Given the description of an element on the screen output the (x, y) to click on. 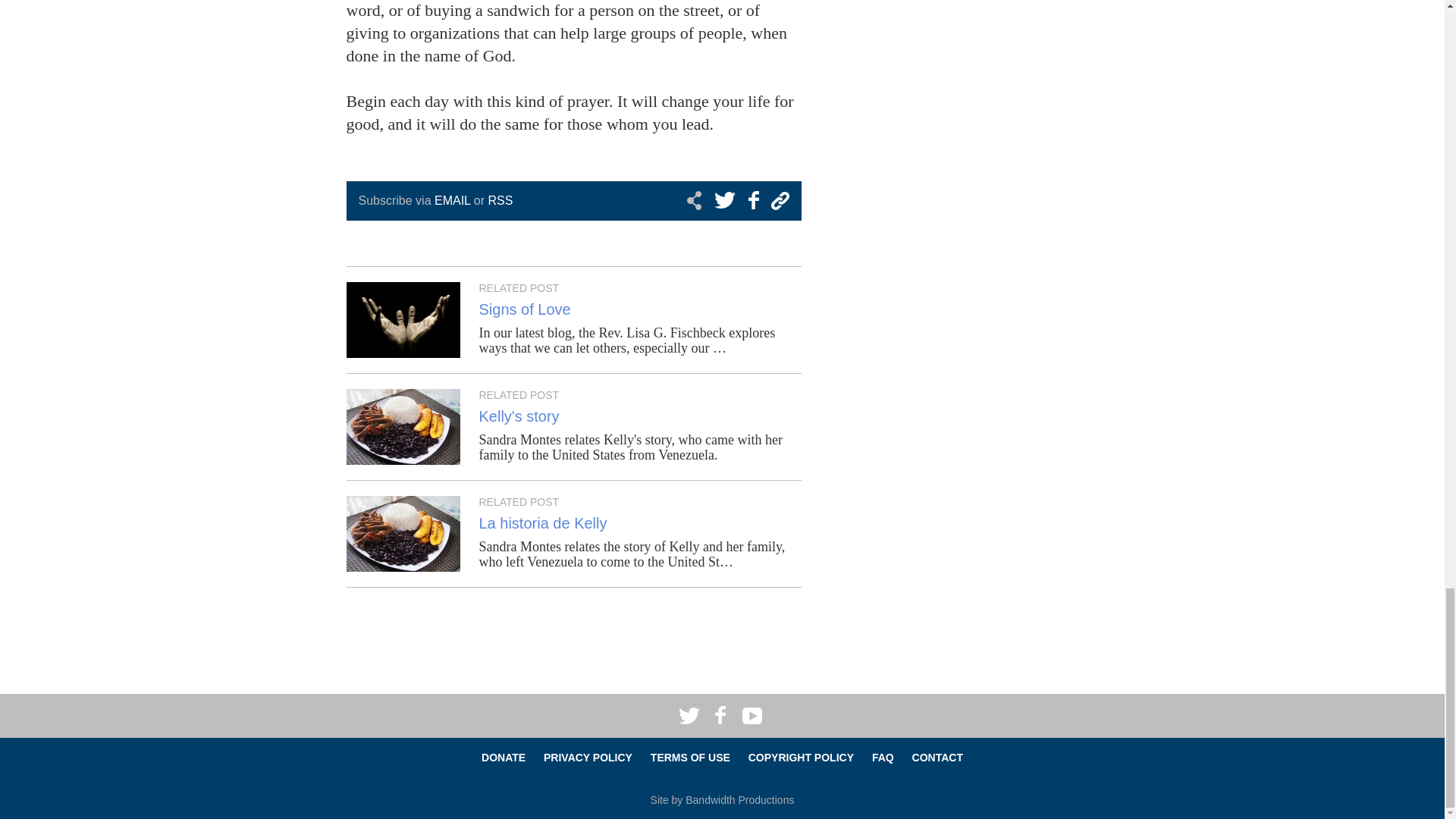
Kelly's story (519, 416)
Visit us on Facebook (721, 715)
La historia de Kelly (543, 523)
RSS (500, 200)
Share on Facebook (750, 199)
Email a Link (776, 199)
Share on Twitter (726, 199)
Signs of Love (524, 309)
EMAIL (451, 200)
Visit us on Twitter (692, 715)
